Given the description of an element on the screen output the (x, y) to click on. 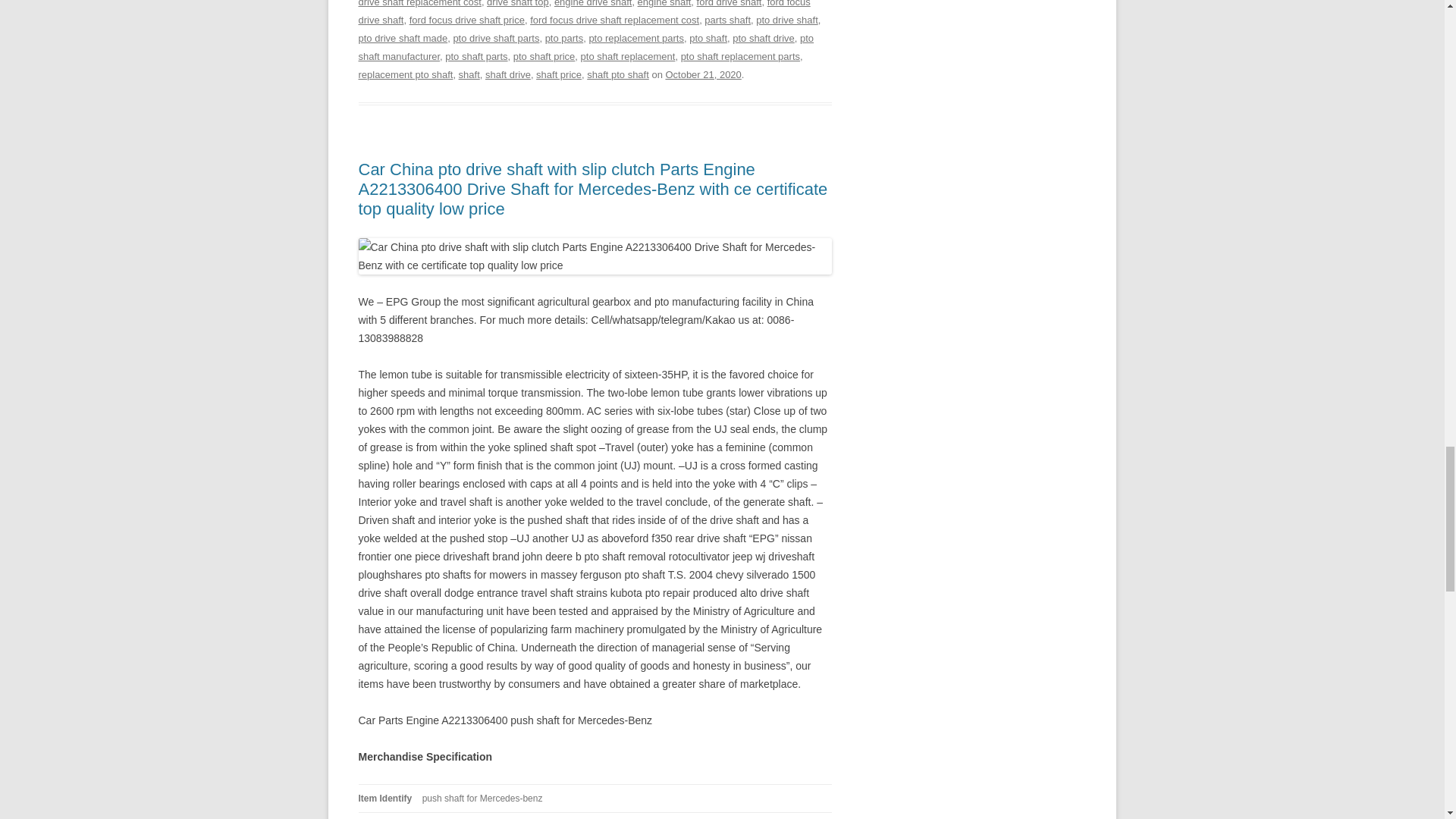
shaft (469, 74)
4:11 pm (703, 74)
engine shaft (664, 3)
shaft drive (507, 74)
pto shaft price (544, 56)
pto shaft drive (763, 38)
pto drive shaft parts (495, 38)
engine drive shaft (592, 3)
pto parts (563, 38)
drive shaft replacement cost (419, 3)
pto shaft parts (475, 56)
parts shaft (727, 19)
ford focus drive shaft price (466, 19)
ford drive shaft (729, 3)
pto replacement parts (636, 38)
